Given the description of an element on the screen output the (x, y) to click on. 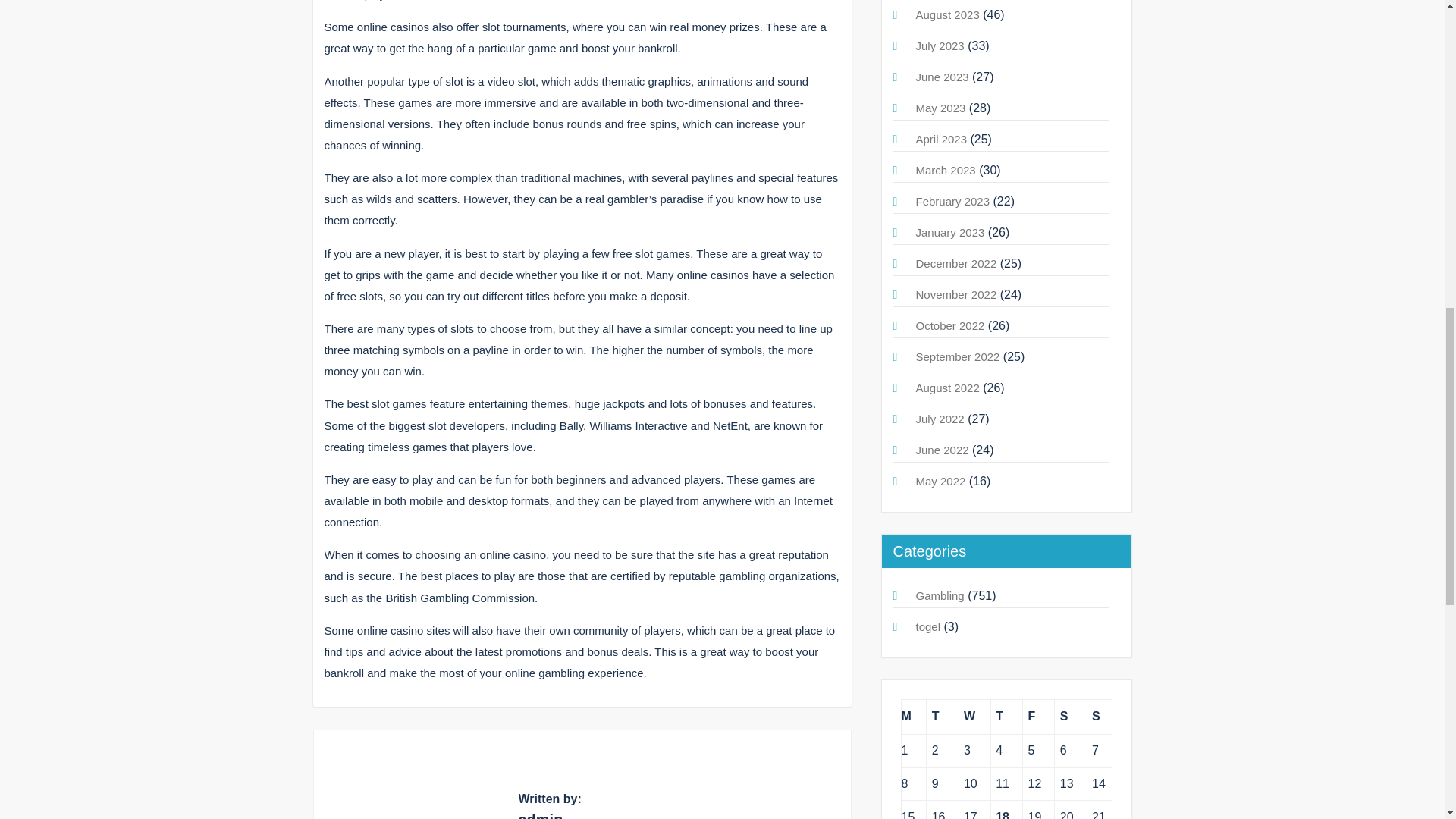
September 2022 (957, 356)
June 2022 (942, 449)
togel (927, 626)
August 2022 (947, 387)
June 2023 (942, 76)
October 2022 (950, 325)
December 2022 (956, 263)
February 2023 (952, 201)
Friday (1038, 716)
January 2023 (950, 232)
Tuesday (942, 716)
August 2023 (947, 14)
April 2023 (941, 138)
Wednesday (974, 716)
July 2023 (939, 45)
